Given the description of an element on the screen output the (x, y) to click on. 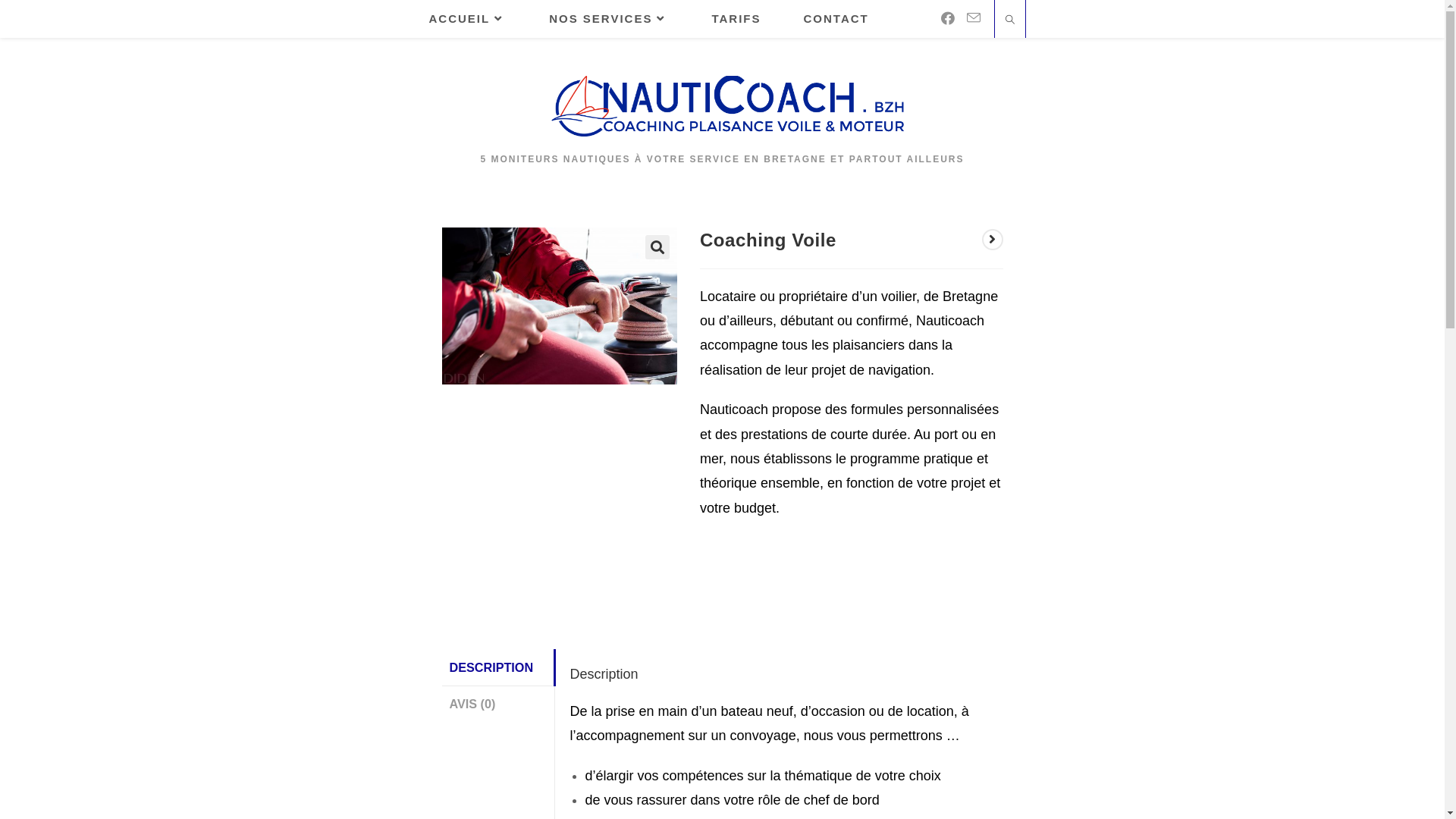
DESCRIPTION Element type: text (497, 667)
AVIS (0) Element type: text (497, 703)
TARIFS Element type: text (735, 18)
NOS SERVICES Element type: text (608, 18)
ACCUEIL Element type: text (467, 18)
CONTACT Element type: text (836, 18)
DSC_7113 Element type: hover (559, 305)
